Given the description of an element on the screen output the (x, y) to click on. 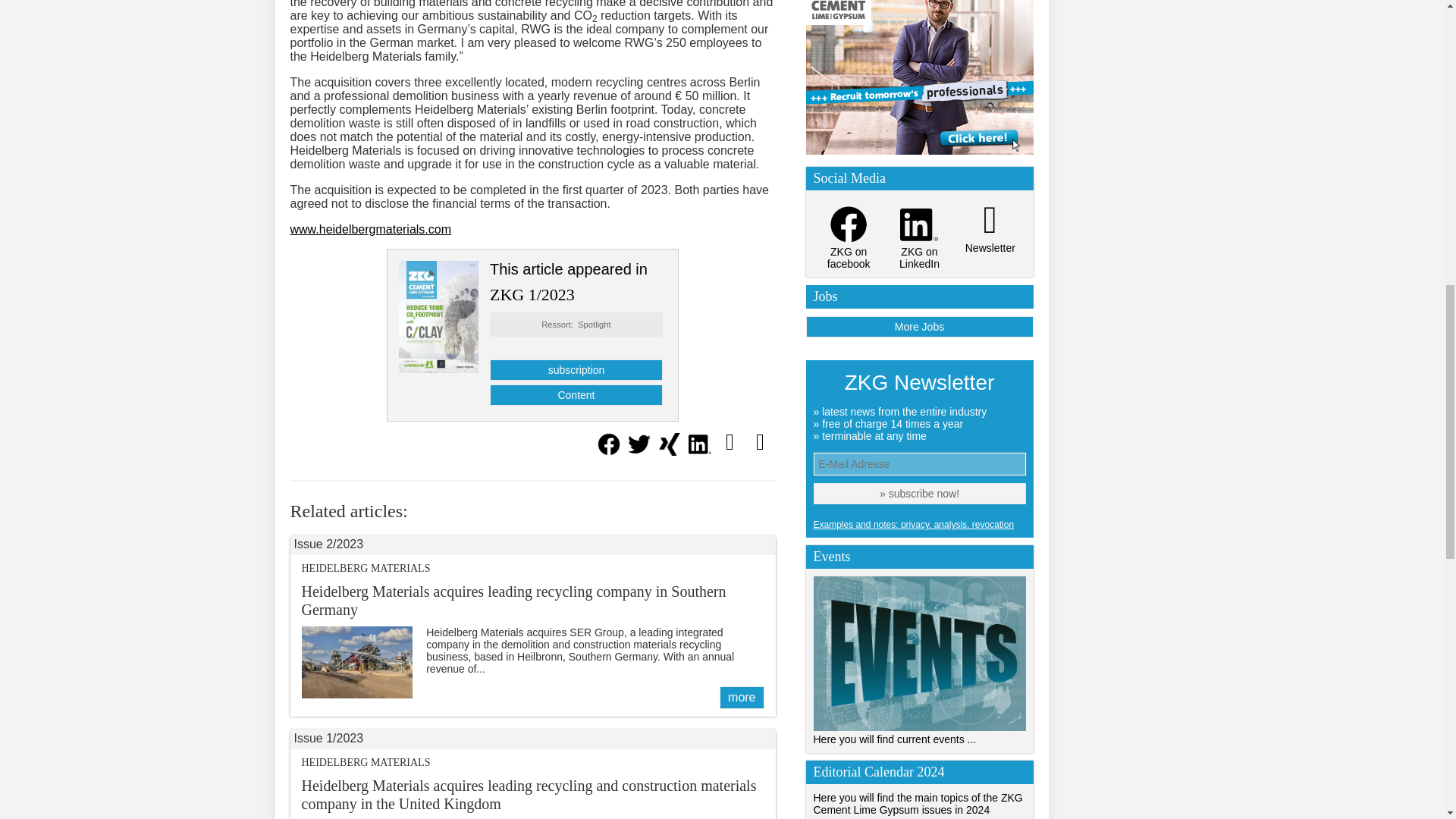
Content (575, 394)
Auf LinkedIn teilen (699, 451)
Tweet auf Twitter (638, 451)
Auf facebook teilen (607, 451)
Auf Xing teilen (668, 451)
www.heidelbergmaterials.com (370, 228)
Artikel drucken (759, 441)
Per E-Mail teilen (729, 441)
subscription (575, 369)
